Given the description of an element on the screen output the (x, y) to click on. 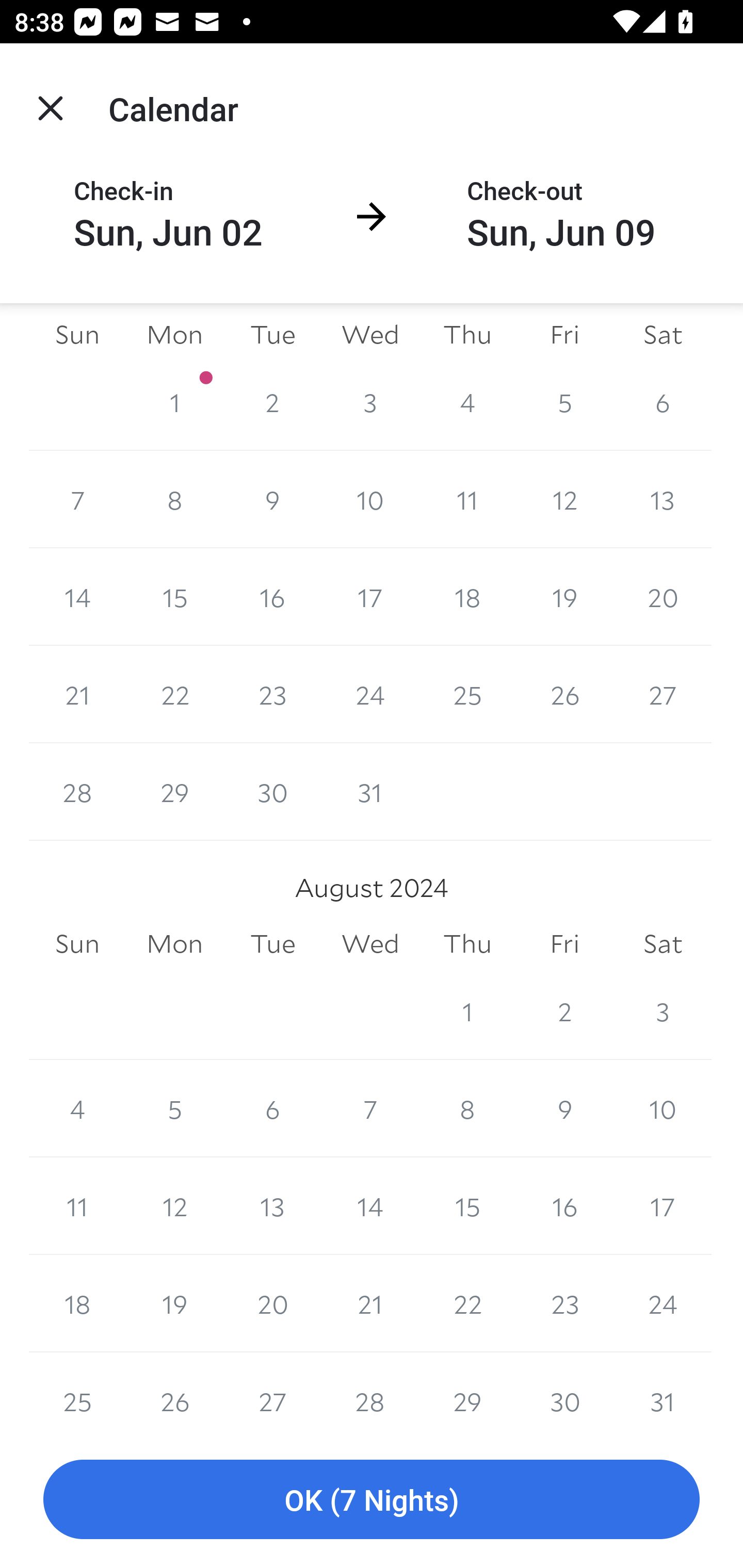
Sun (77, 334)
Mon (174, 334)
Tue (272, 334)
Wed (370, 334)
Thu (467, 334)
Fri (564, 334)
Sat (662, 334)
1 1 July 2024 (174, 401)
2 2 July 2024 (272, 401)
3 3 July 2024 (370, 401)
4 4 July 2024 (467, 401)
5 5 July 2024 (564, 401)
6 6 July 2024 (662, 401)
7 7 July 2024 (77, 499)
8 8 July 2024 (174, 499)
9 9 July 2024 (272, 499)
10 10 July 2024 (370, 499)
11 11 July 2024 (467, 499)
12 12 July 2024 (564, 499)
13 13 July 2024 (662, 499)
14 14 July 2024 (77, 597)
15 15 July 2024 (174, 597)
16 16 July 2024 (272, 597)
17 17 July 2024 (370, 597)
18 18 July 2024 (467, 597)
19 19 July 2024 (564, 597)
20 20 July 2024 (662, 597)
21 21 July 2024 (77, 694)
22 22 July 2024 (174, 694)
23 23 July 2024 (272, 694)
24 24 July 2024 (370, 694)
25 25 July 2024 (467, 694)
26 26 July 2024 (564, 694)
27 27 July 2024 (662, 694)
28 28 July 2024 (77, 791)
29 29 July 2024 (174, 791)
30 30 July 2024 (272, 791)
31 31 July 2024 (370, 791)
Sun (77, 943)
Mon (174, 943)
Tue (272, 943)
Wed (370, 943)
Thu (467, 943)
Fri (564, 943)
Sat (662, 943)
1 1 August 2024 (467, 1010)
2 2 August 2024 (564, 1010)
3 3 August 2024 (662, 1010)
4 4 August 2024 (77, 1108)
5 5 August 2024 (174, 1108)
6 6 August 2024 (272, 1108)
7 7 August 2024 (370, 1108)
8 8 August 2024 (467, 1108)
9 9 August 2024 (564, 1108)
10 10 August 2024 (662, 1108)
11 11 August 2024 (77, 1205)
12 12 August 2024 (174, 1205)
13 13 August 2024 (272, 1205)
14 14 August 2024 (370, 1205)
15 15 August 2024 (467, 1205)
16 16 August 2024 (564, 1205)
17 17 August 2024 (662, 1205)
18 18 August 2024 (77, 1302)
19 19 August 2024 (174, 1302)
20 20 August 2024 (272, 1302)
21 21 August 2024 (370, 1302)
22 22 August 2024 (467, 1302)
23 23 August 2024 (564, 1302)
24 24 August 2024 (662, 1302)
25 25 August 2024 (77, 1390)
26 26 August 2024 (174, 1390)
27 27 August 2024 (272, 1390)
28 28 August 2024 (370, 1390)
29 29 August 2024 (467, 1390)
30 30 August 2024 (564, 1390)
31 31 August 2024 (662, 1390)
OK (7 Nights) (371, 1499)
